Given the description of an element on the screen output the (x, y) to click on. 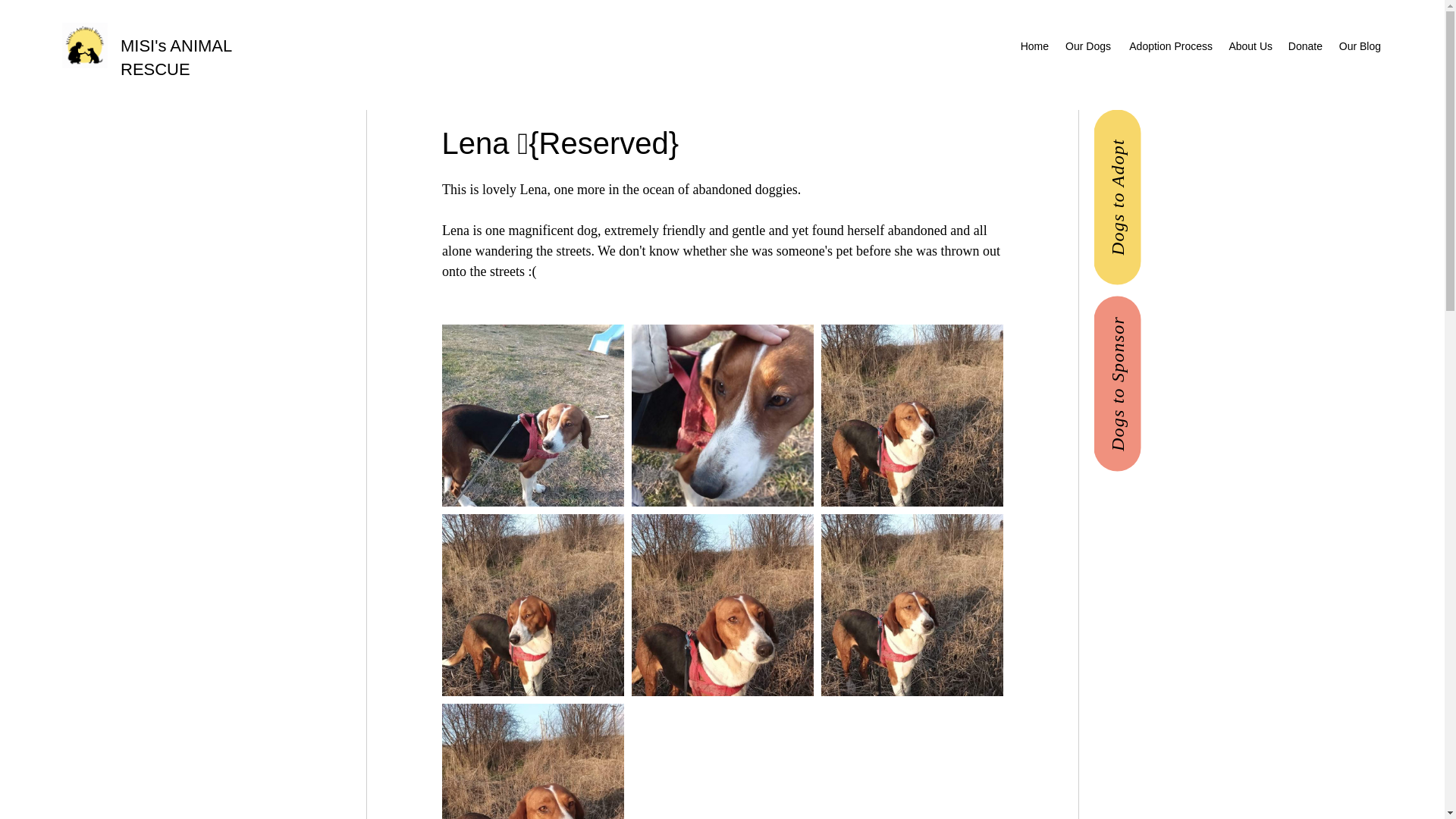
Our Blog (1359, 46)
Mar 13, 2021 (472, 96)
About Us (1249, 46)
Donate (1304, 46)
Adoption Process (1169, 46)
Home (1034, 46)
MISI's ANIMAL RESCUE (175, 57)
Dogs to Adopt (1180, 133)
Dogs to Sponsor (1180, 319)
